Given the description of an element on the screen output the (x, y) to click on. 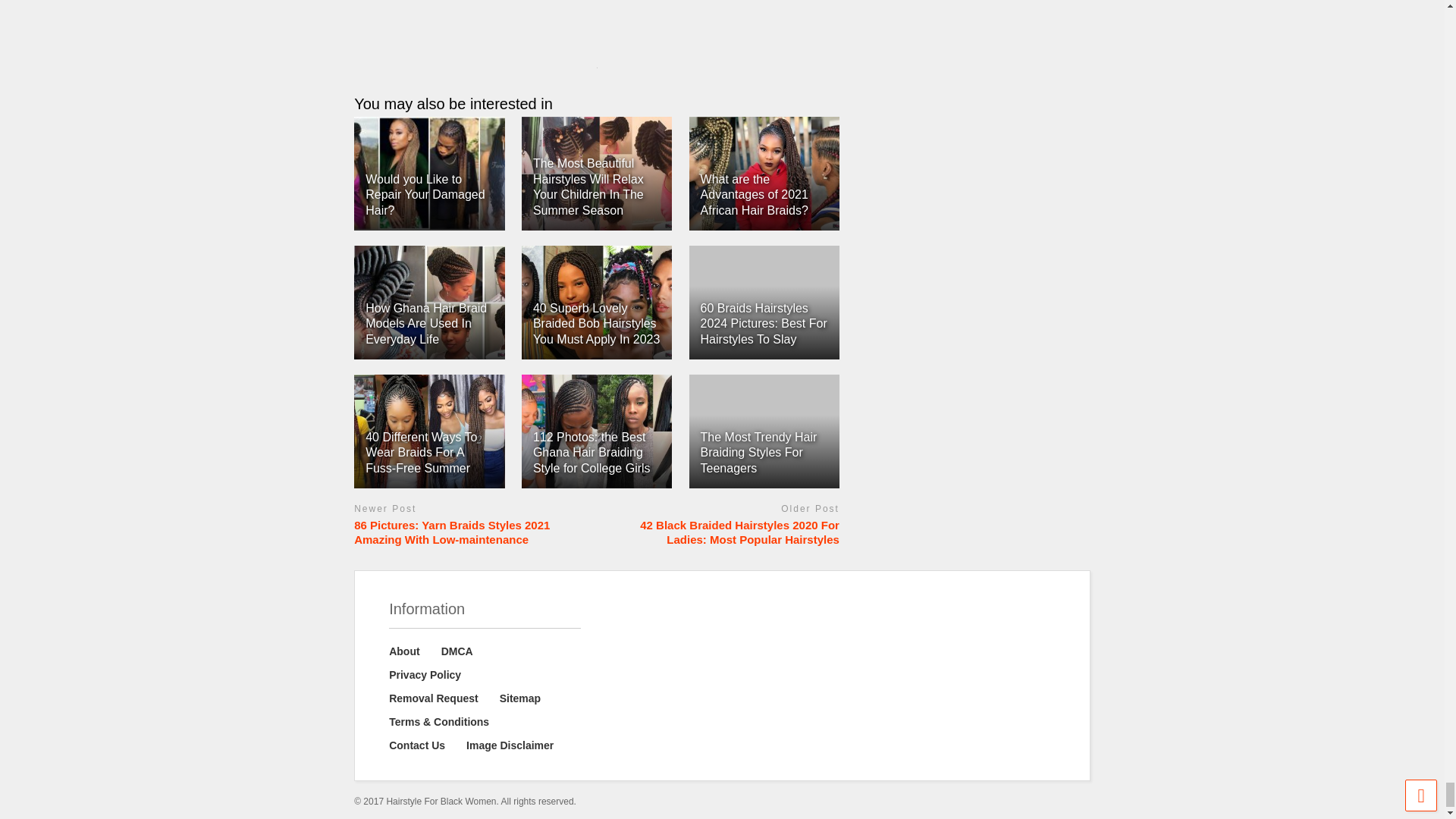
Would you Like to Repair Your Damaged Hair? (424, 194)
Would you Like to Repair Your Damaged Hair? (429, 173)
